Given the description of an element on the screen output the (x, y) to click on. 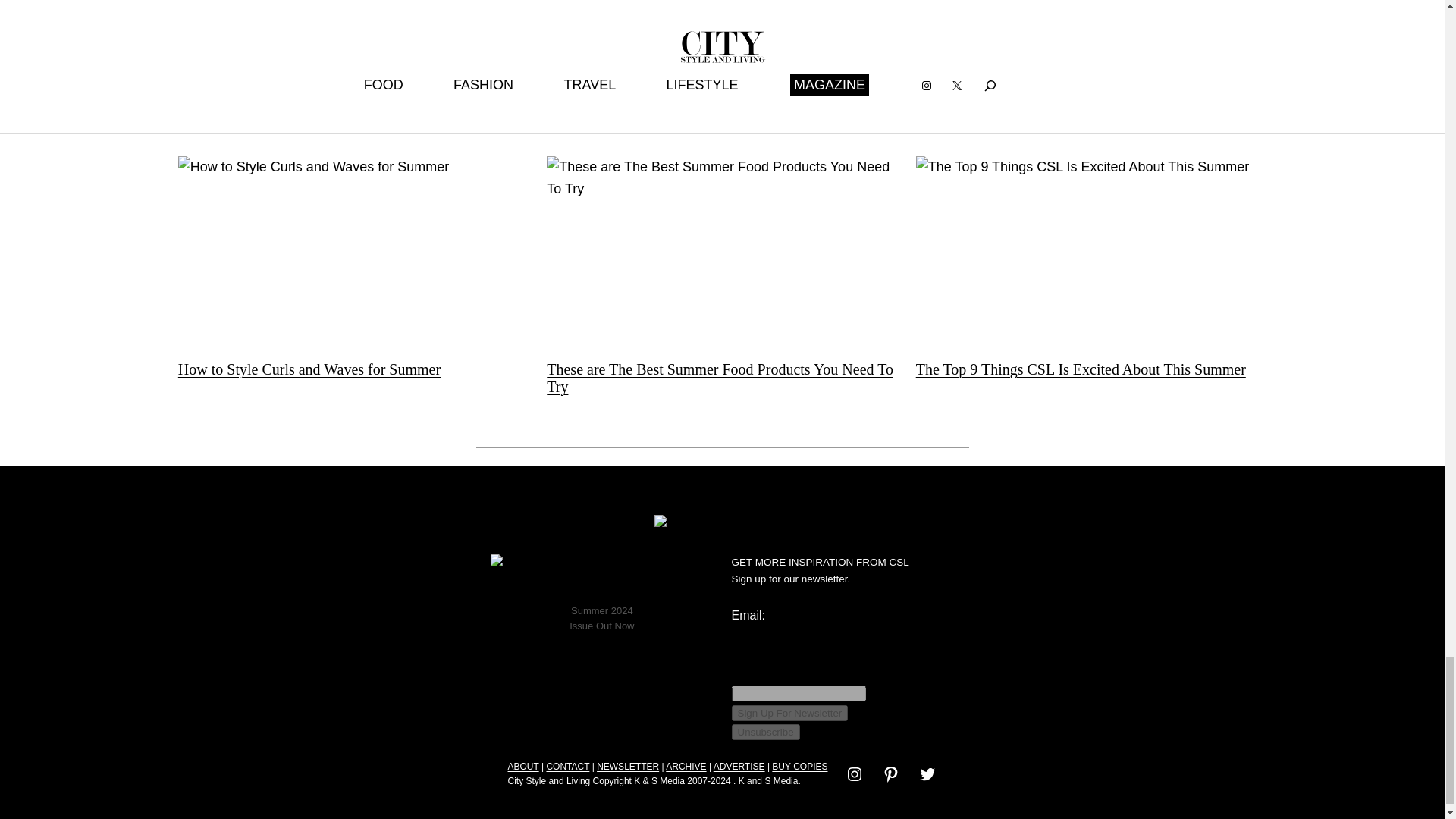
Unsubscribe (764, 731)
City Style and Living New Issue Available Now (601, 576)
Sign Up For Newsletter (788, 713)
